Given the description of an element on the screen output the (x, y) to click on. 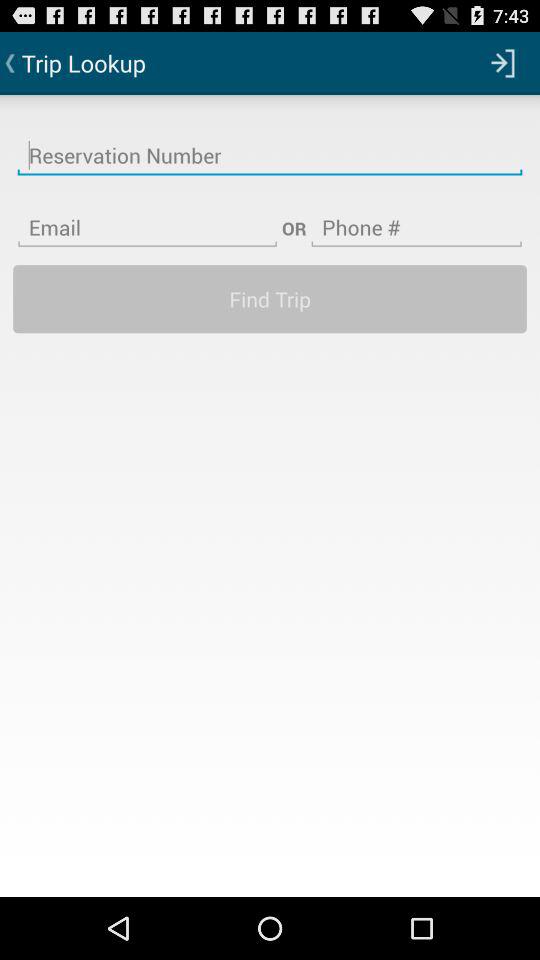
enter phone number (416, 215)
